Given the description of an element on the screen output the (x, y) to click on. 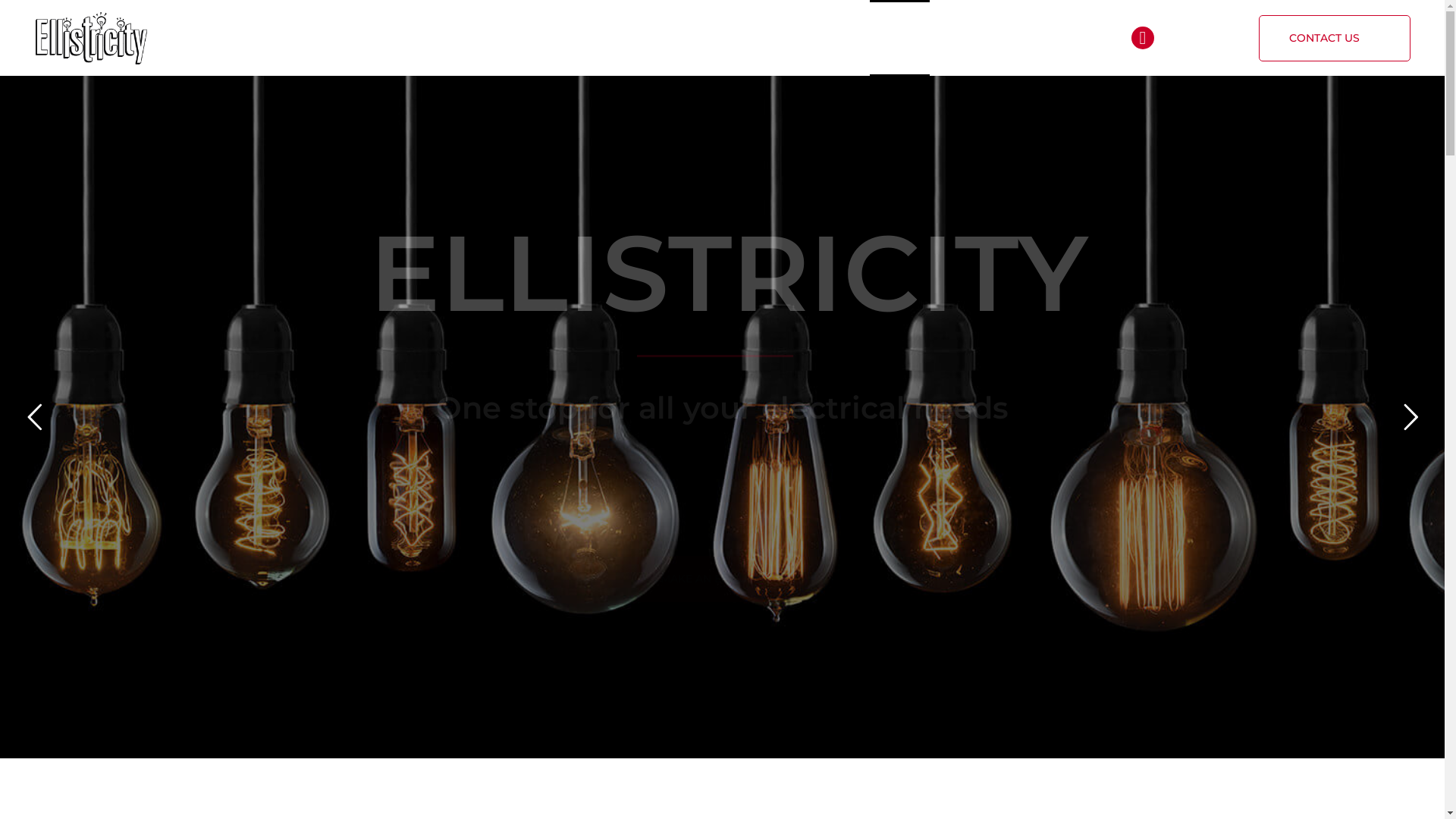
0412 375 737 Element type: text (1198, 38)
CONTACT US Element type: text (1334, 38)
HOME Element type: text (899, 37)
ABOUT Element type: text (962, 37)
SERVICES Element type: text (1036, 37)
MAKE AN ENQUIRY Element type: text (722, 578)
